Given the description of an element on the screen output the (x, y) to click on. 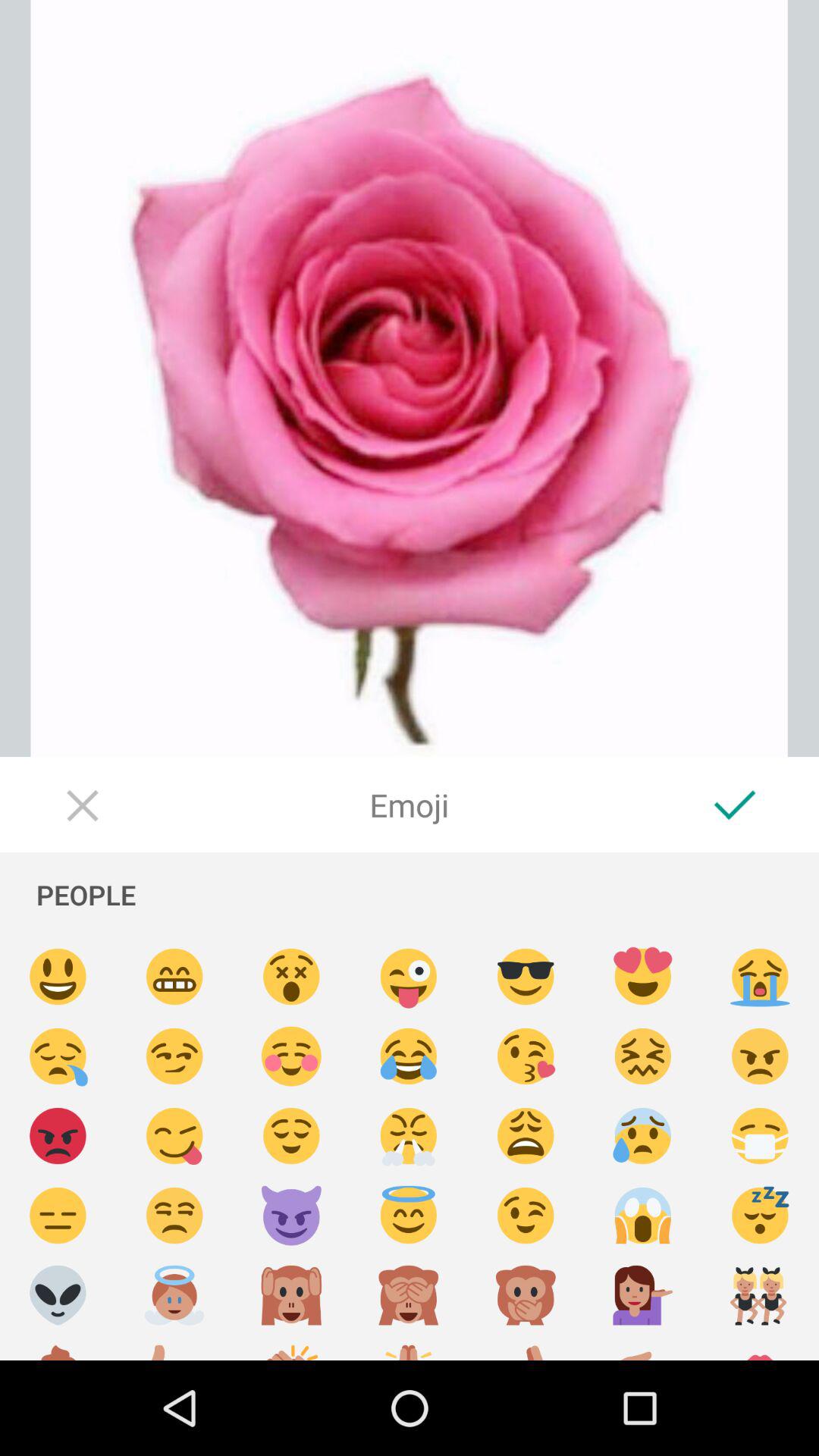
select emoji (525, 1295)
